Given the description of an element on the screen output the (x, y) to click on. 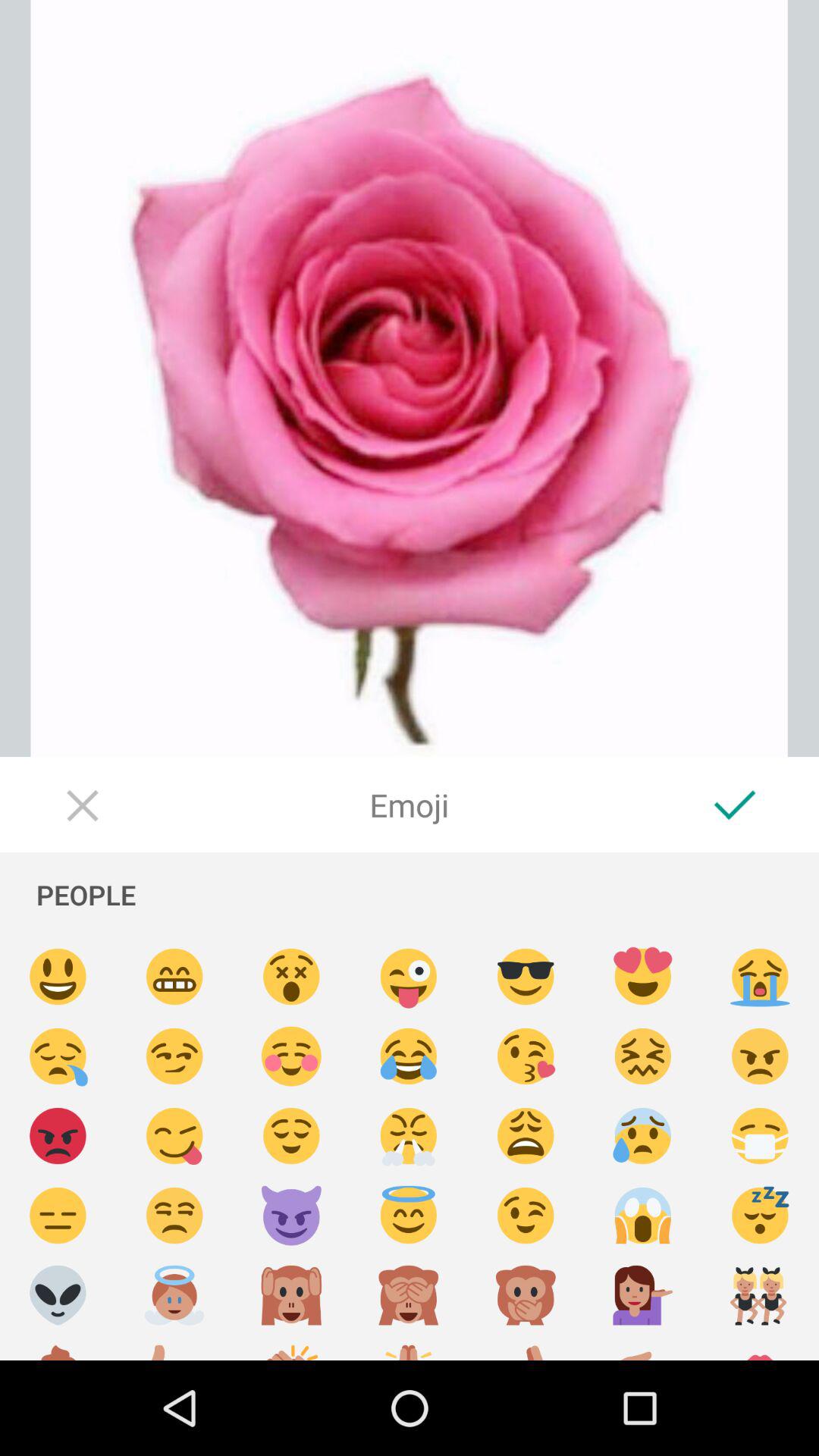
select emoji (525, 1295)
